Given the description of an element on the screen output the (x, y) to click on. 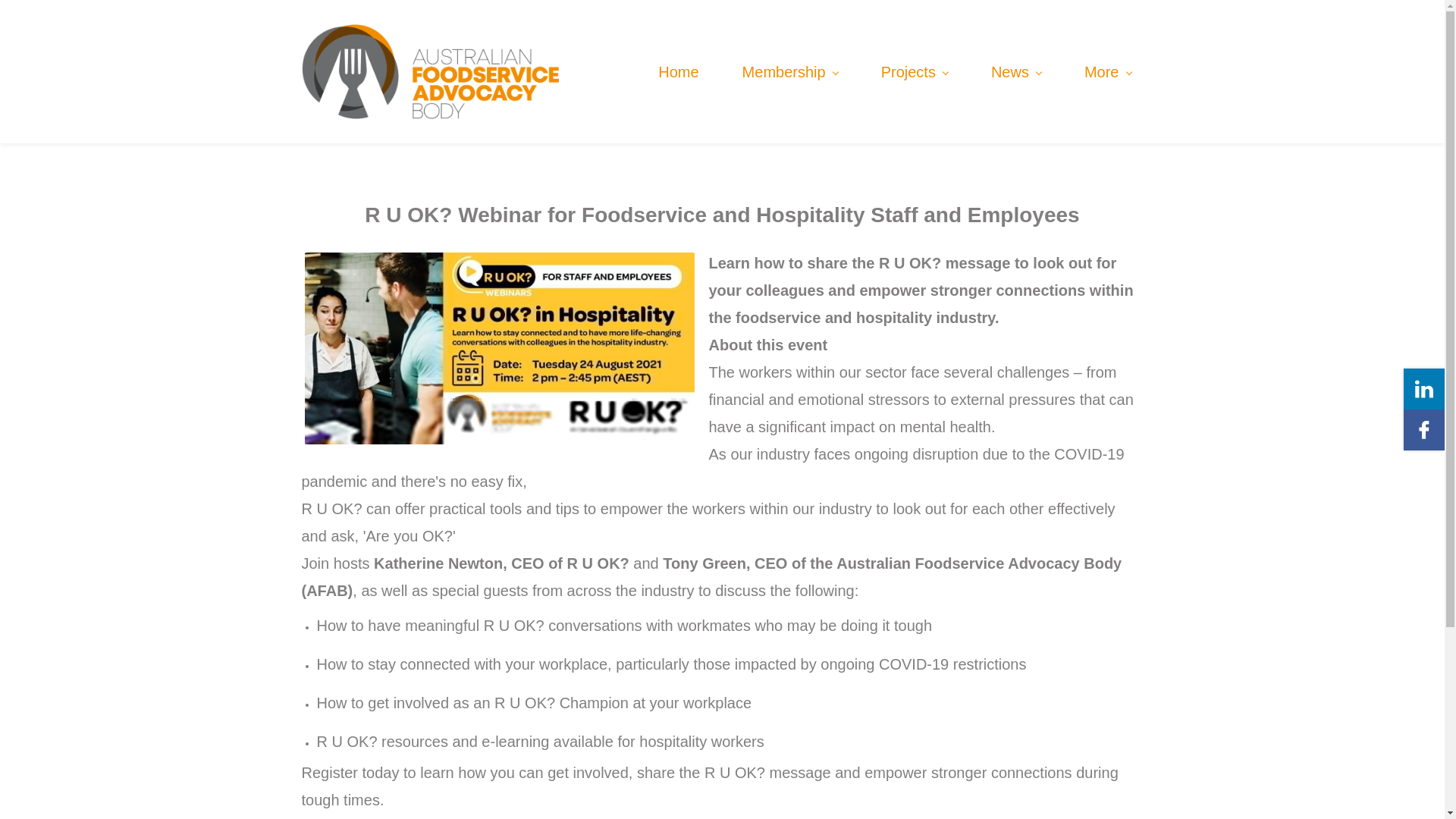
More (1106, 71)
Membership (790, 71)
News (1015, 71)
Projects (914, 71)
Home (678, 71)
